Given the description of an element on the screen output the (x, y) to click on. 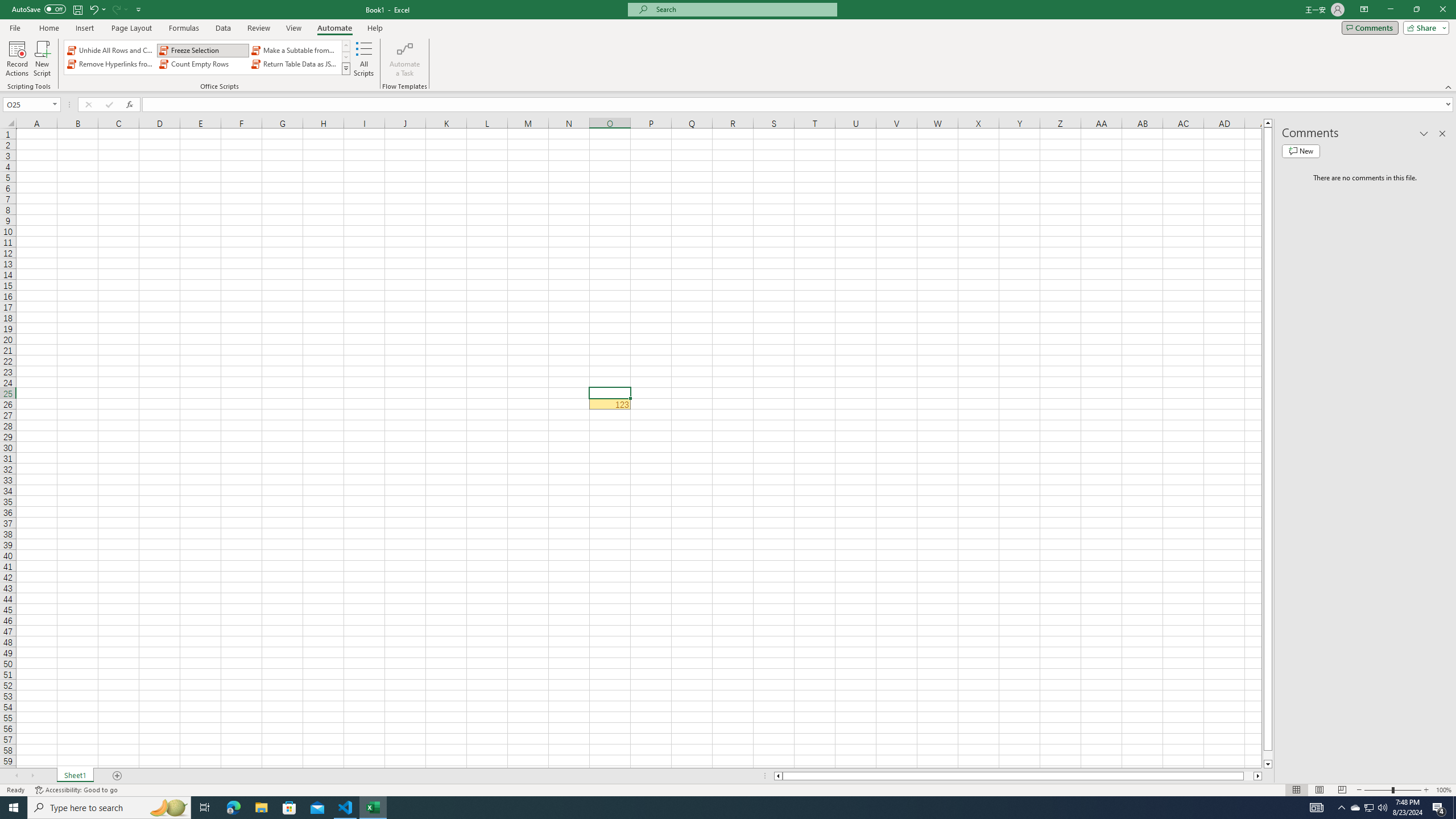
Save (77, 9)
Redo (119, 9)
Line down (1267, 764)
Open (54, 104)
All Scripts (363, 58)
Record Actions (17, 58)
System (6, 6)
Comments (1369, 27)
Count Empty Rows (202, 64)
Freeze Selection (202, 50)
New comment (1300, 151)
Share (1423, 27)
